Given the description of an element on the screen output the (x, y) to click on. 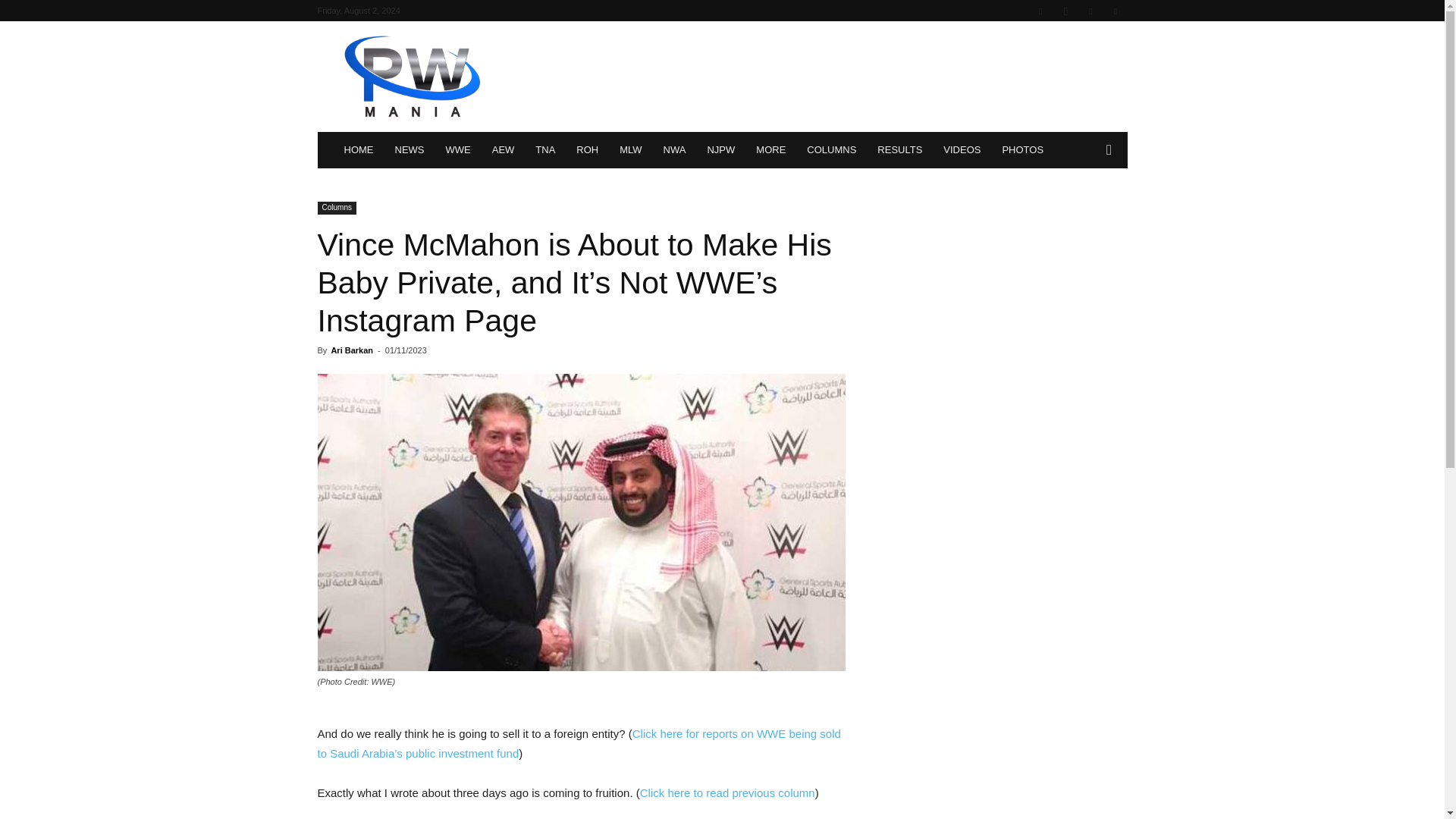
NWA (674, 149)
Instagram (1065, 10)
Youtube (1114, 10)
HOME (358, 149)
TNA (545, 149)
Facebook (1040, 10)
WWE (458, 149)
NEWS (408, 149)
AEW (503, 149)
Twitter (1090, 10)
MLW (630, 149)
ROH (587, 149)
